Given the description of an element on the screen output the (x, y) to click on. 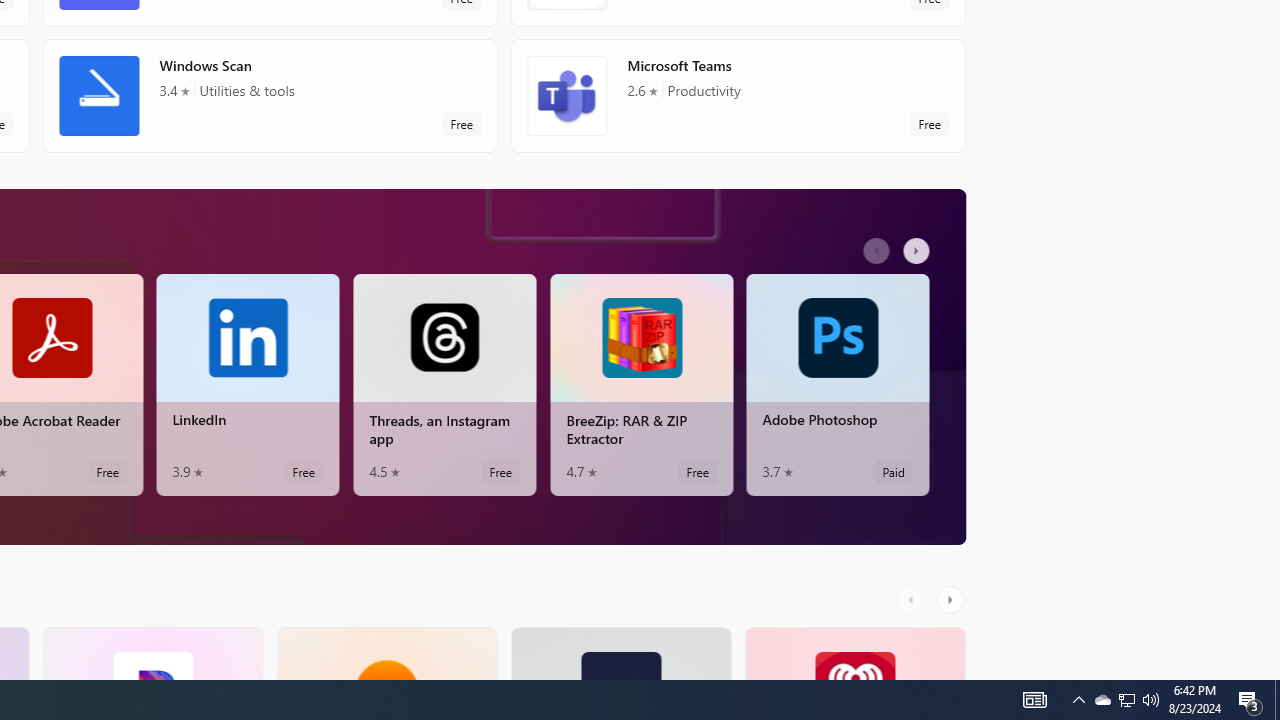
LinkedIn. Average rating of 3.9 out of five stars. Free   (247, 384)
Pandora. Average rating of 4.5 out of five stars. Free   (152, 653)
AutomationID: LeftScrollButton (913, 599)
AutomationID: RightScrollButton (952, 599)
